Given the description of an element on the screen output the (x, y) to click on. 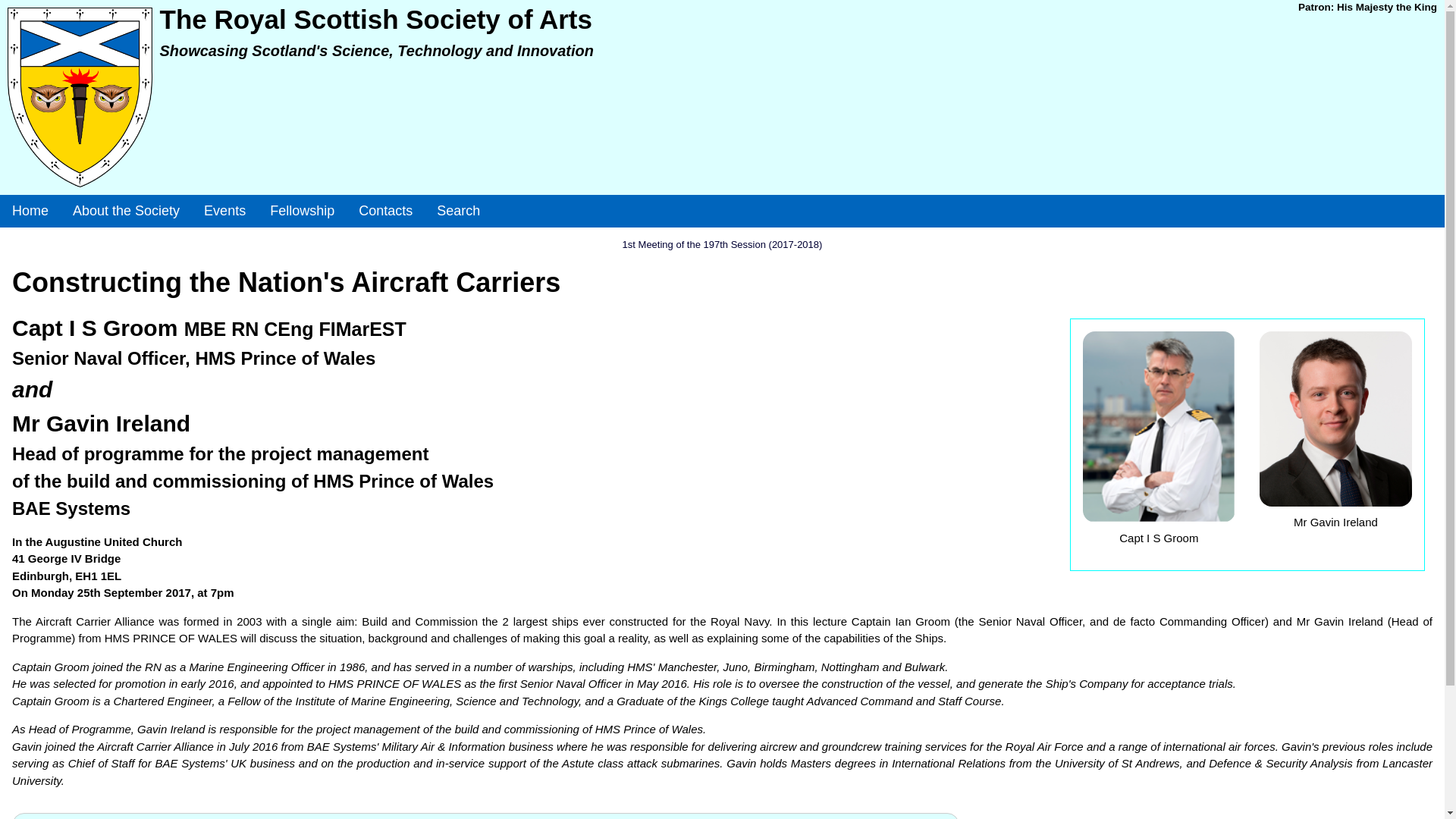
Fellowship. (301, 210)
About the Society (125, 210)
Contacts (385, 210)
Fellowship (301, 210)
Search this website (458, 210)
Home (30, 210)
Home Page. (30, 210)
Search (458, 210)
Events (224, 210)
Contacts (385, 210)
Events. (224, 210)
